Given the description of an element on the screen output the (x, y) to click on. 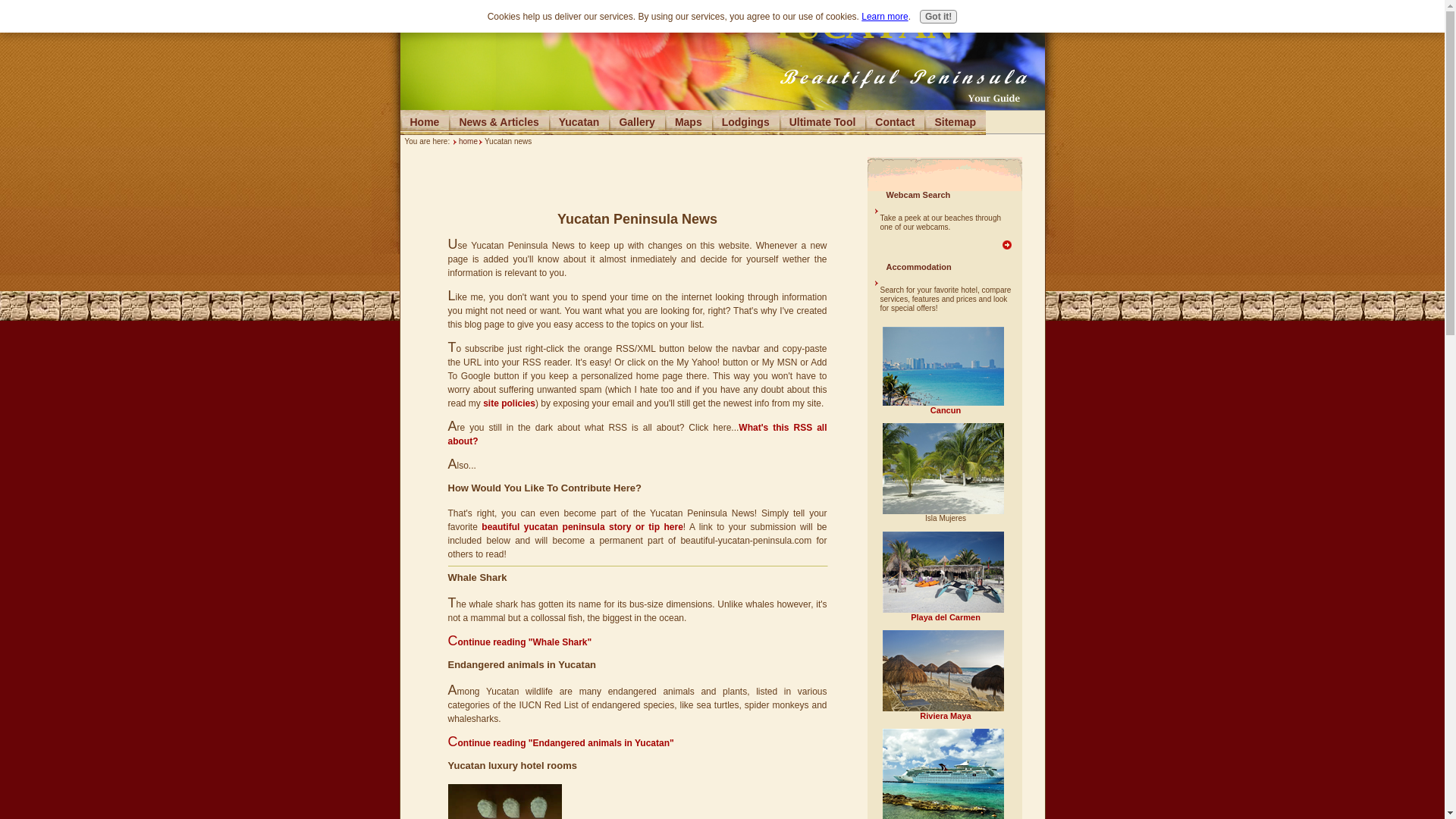
What's this RSS all about? (636, 434)
Yucatan (579, 121)
Ultimate Tool (822, 121)
Sitemap (954, 121)
home (467, 141)
Home (424, 121)
Riviera Maya (945, 715)
Playa del Carmen (945, 616)
Continue reading "Endangered animals in Yucatan" (559, 742)
Lodgings (744, 121)
